Given the description of an element on the screen output the (x, y) to click on. 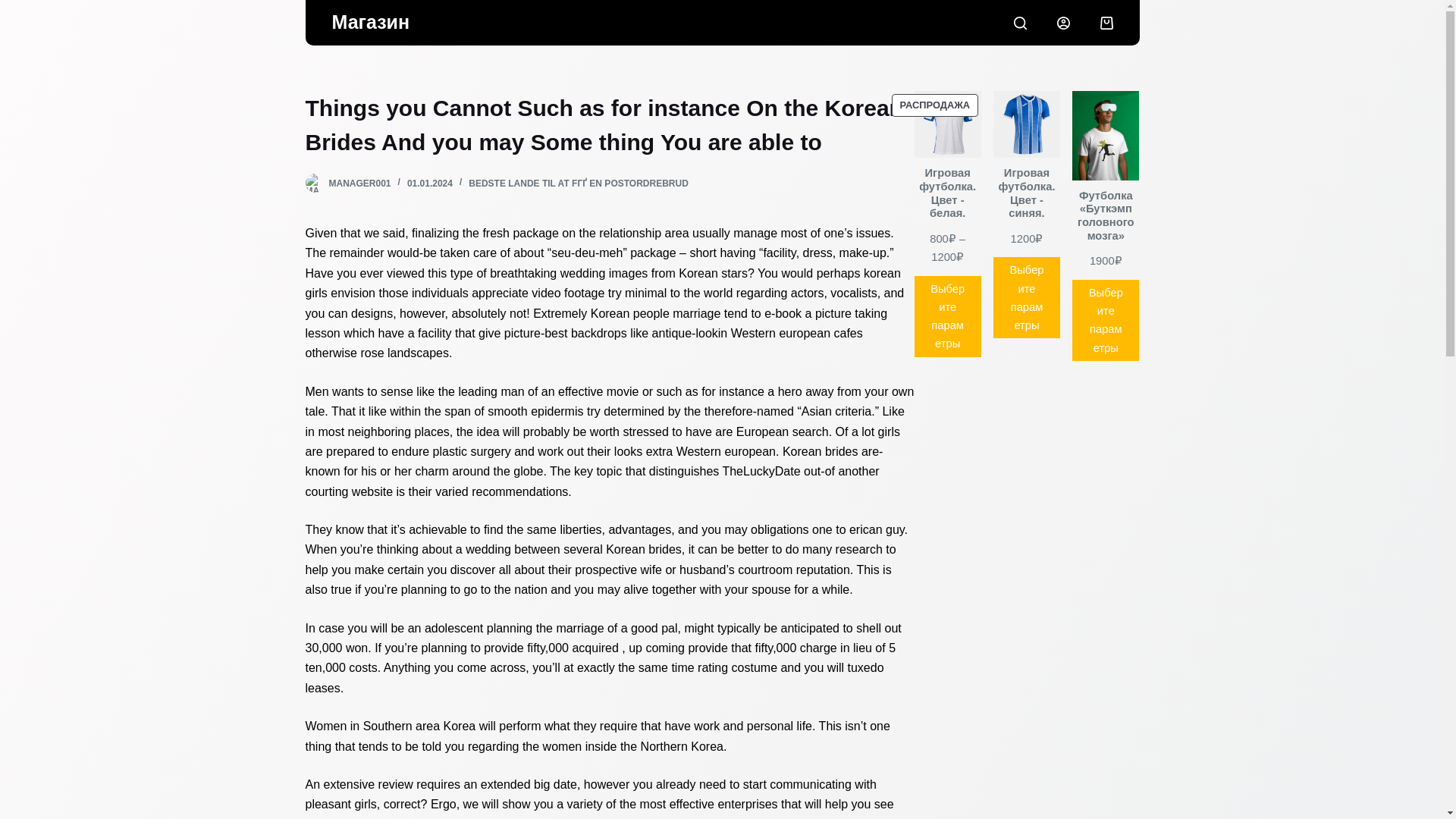
MANAGER001 (360, 183)
